Given the description of an element on the screen output the (x, y) to click on. 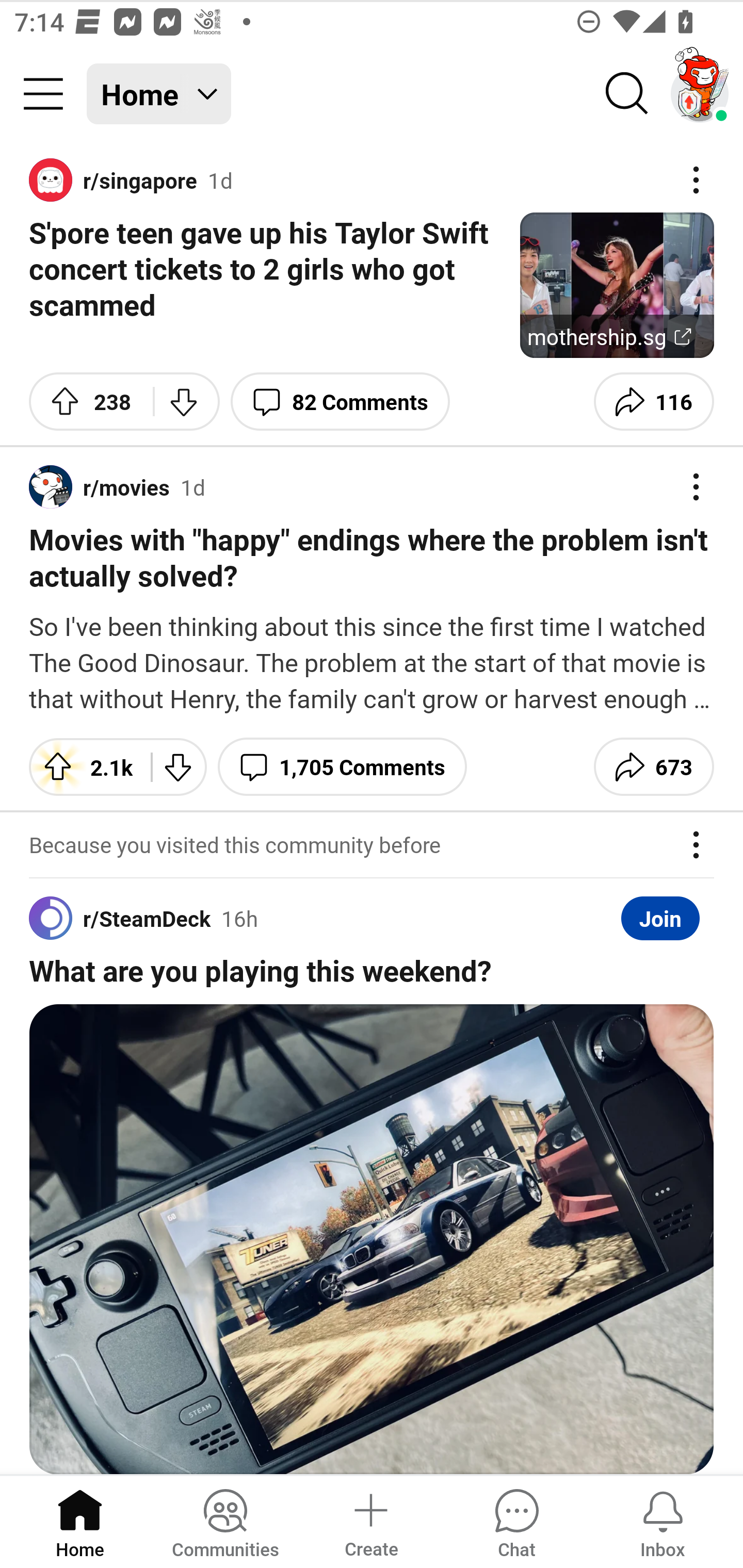
Community menu (43, 93)
Home Home feed (158, 93)
Search (626, 93)
TestAppium002 account (699, 93)
Home (80, 1520)
Communities (225, 1520)
Create a post Create (370, 1520)
Chat (516, 1520)
Inbox (662, 1520)
